Given the description of an element on the screen output the (x, y) to click on. 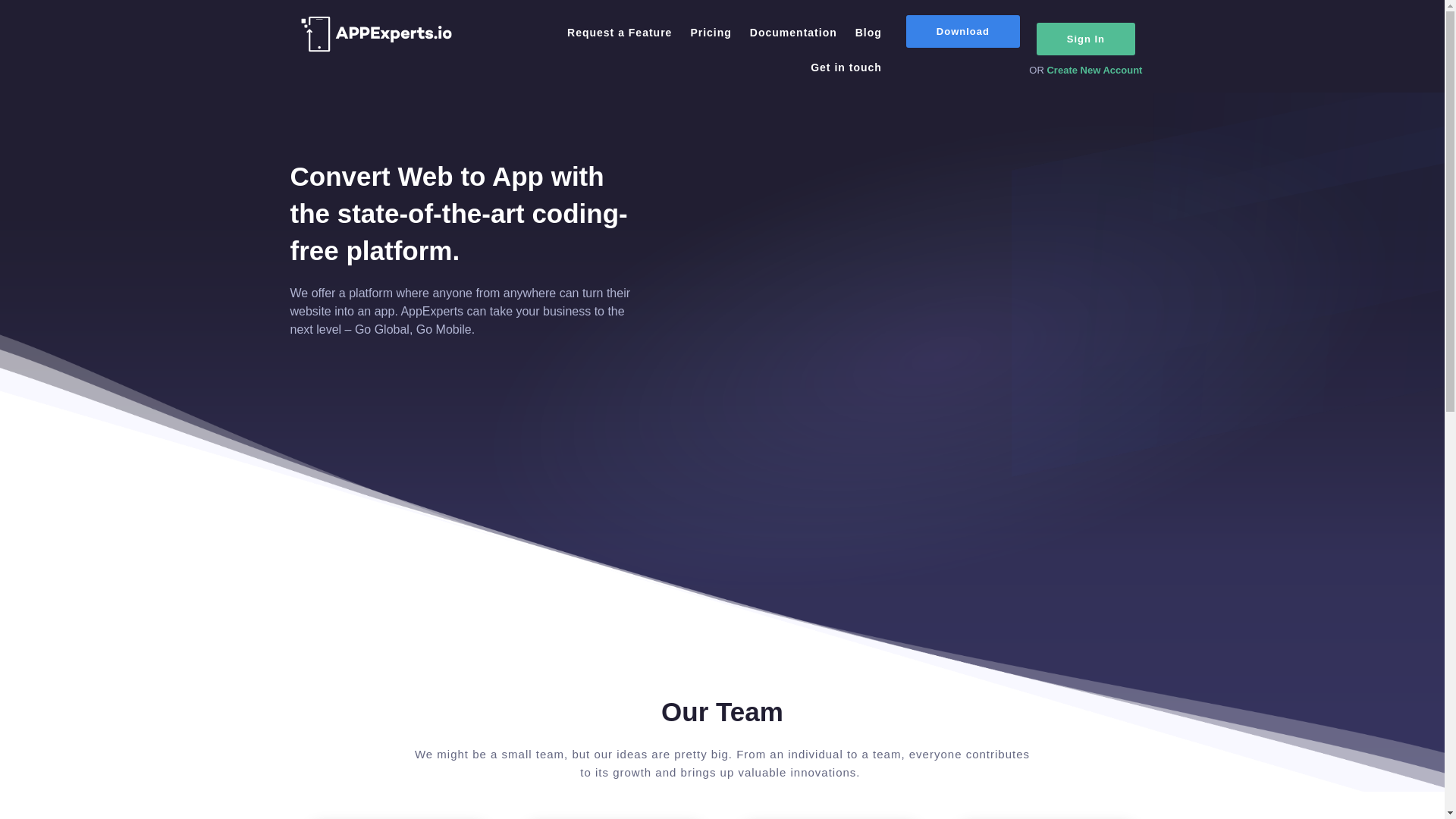
Create New Account (1093, 70)
Request a Feature (619, 17)
Blog (868, 17)
Sign In (1085, 16)
Pricing (710, 32)
Download (962, 31)
Create New Account (1093, 5)
Pricing (710, 17)
Get in touch (846, 67)
Blog (868, 32)
Documentation (793, 17)
Get in touch (846, 17)
Sign In (1085, 38)
Request a Feature (619, 32)
Documentation (793, 32)
